Given the description of an element on the screen output the (x, y) to click on. 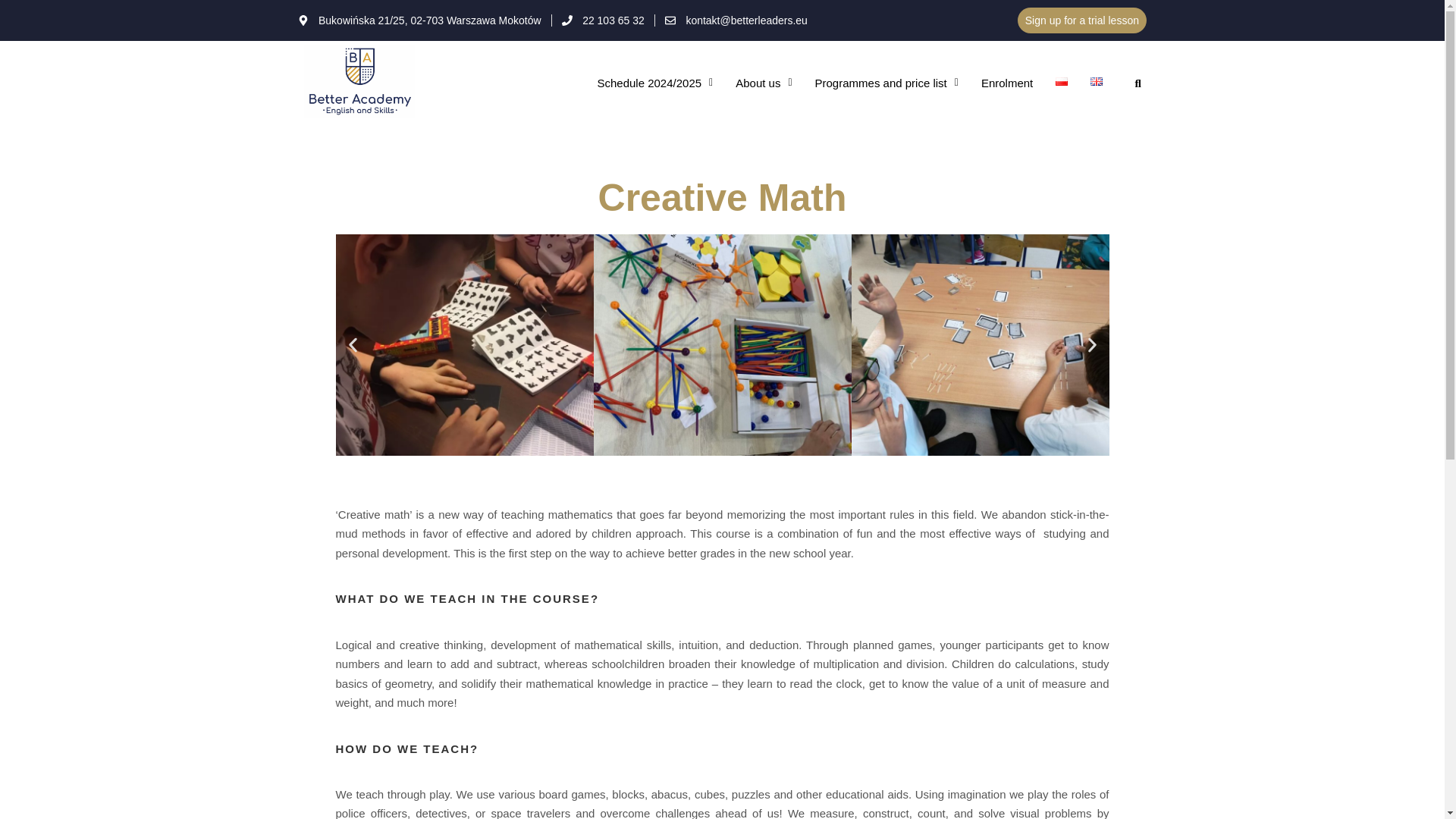
About us (763, 82)
Search (1132, 82)
Sign up for a trial lesson (1082, 20)
solidify  (480, 683)
Enrolment (1006, 82)
22 103 65 32 (603, 20)
Programmes and price list (886, 82)
